Given the description of an element on the screen output the (x, y) to click on. 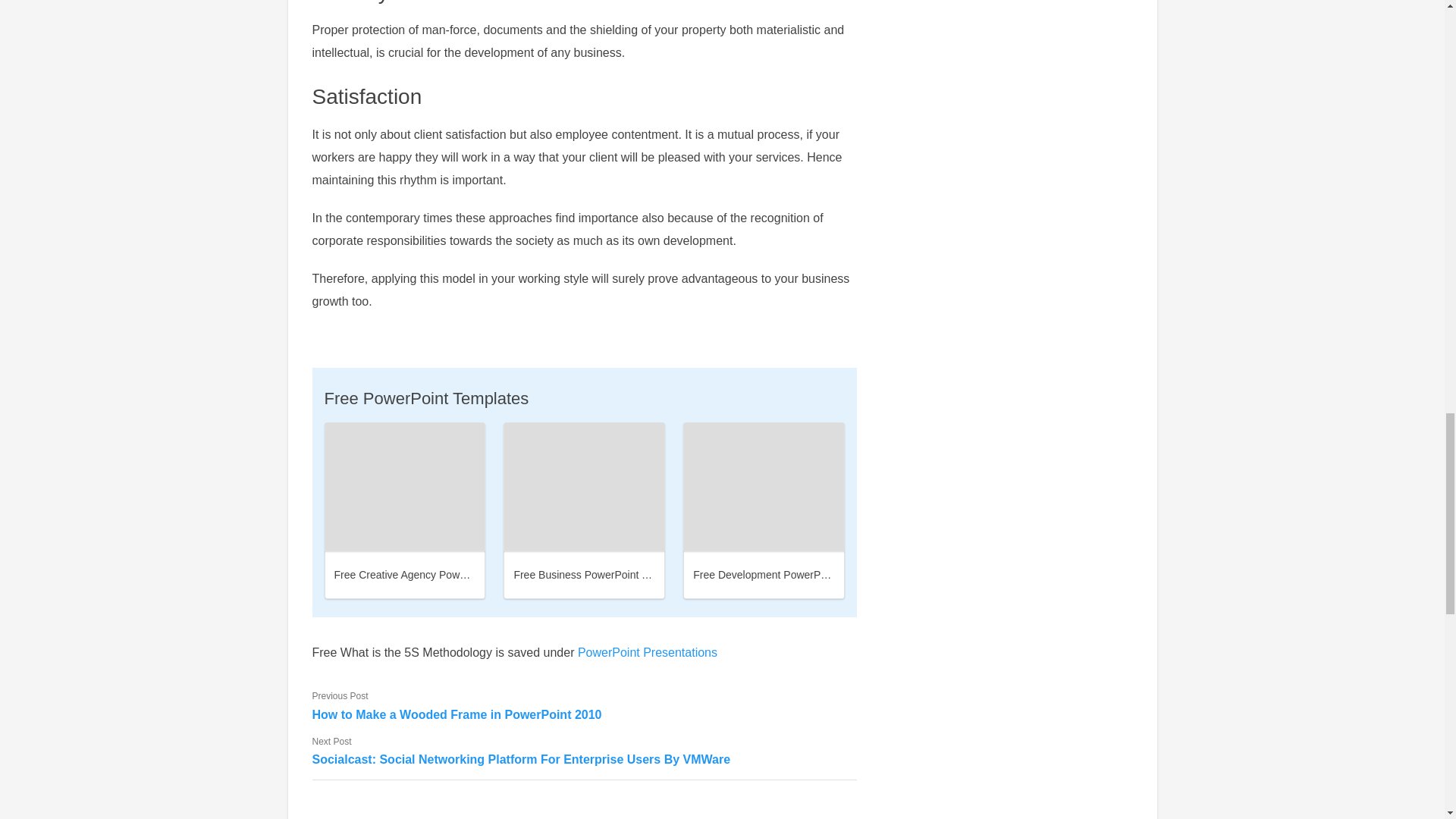
Free Creative Agency PowerPoint template (404, 487)
How to Make a Wooded Frame in PowerPoint 2010 (585, 714)
Free Business Presentation PowerPoint Template (583, 487)
Free Creative Agency PowerPoint template (435, 574)
PowerPoint Presentations (647, 652)
Free Business PowerPoint Template (598, 574)
Free Development PowerPoint Template (788, 574)
